Given the description of an element on the screen output the (x, y) to click on. 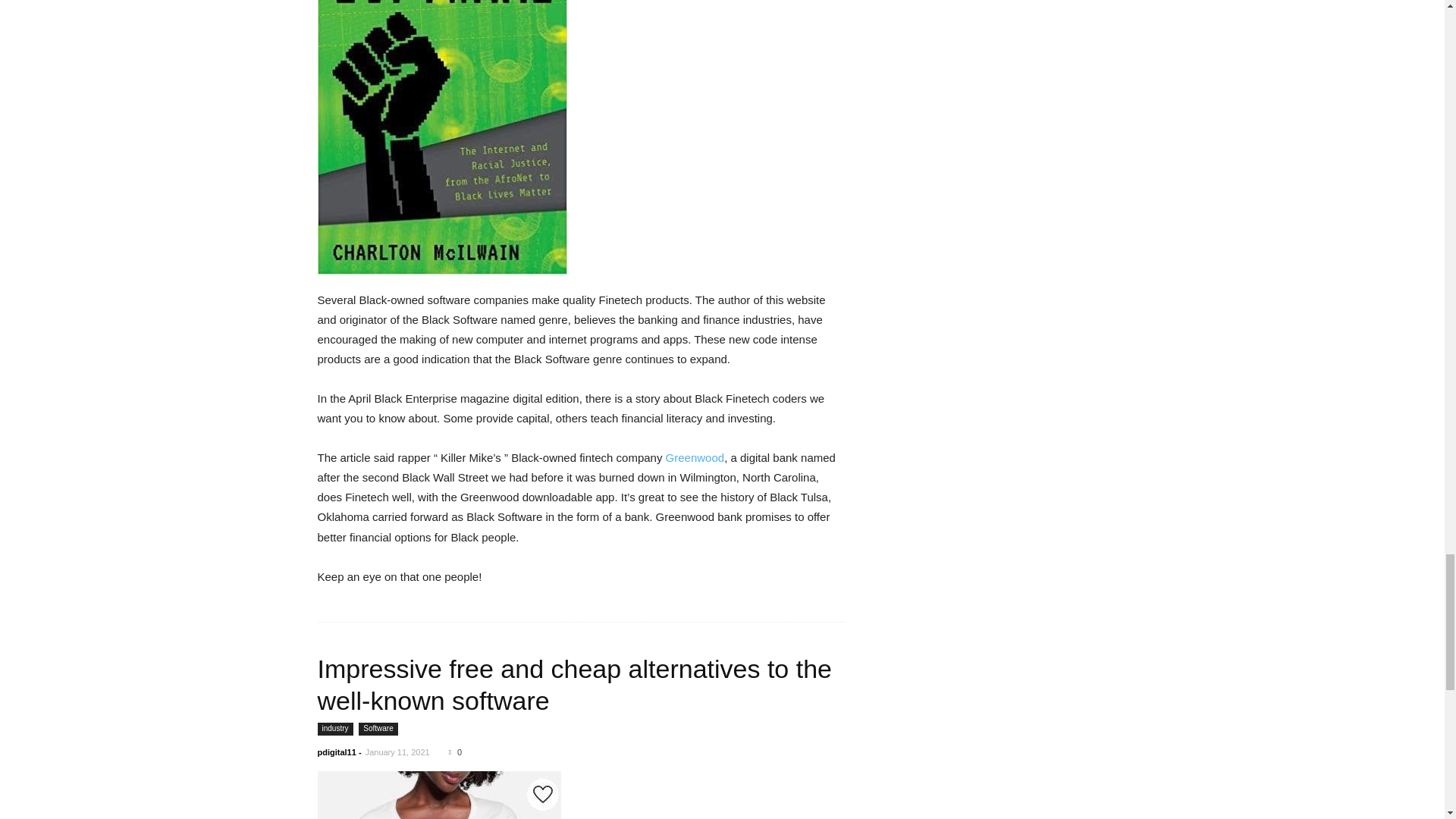
Black made Finetech apps join the blackSoftware category. (441, 137)
